Given the description of an element on the screen output the (x, y) to click on. 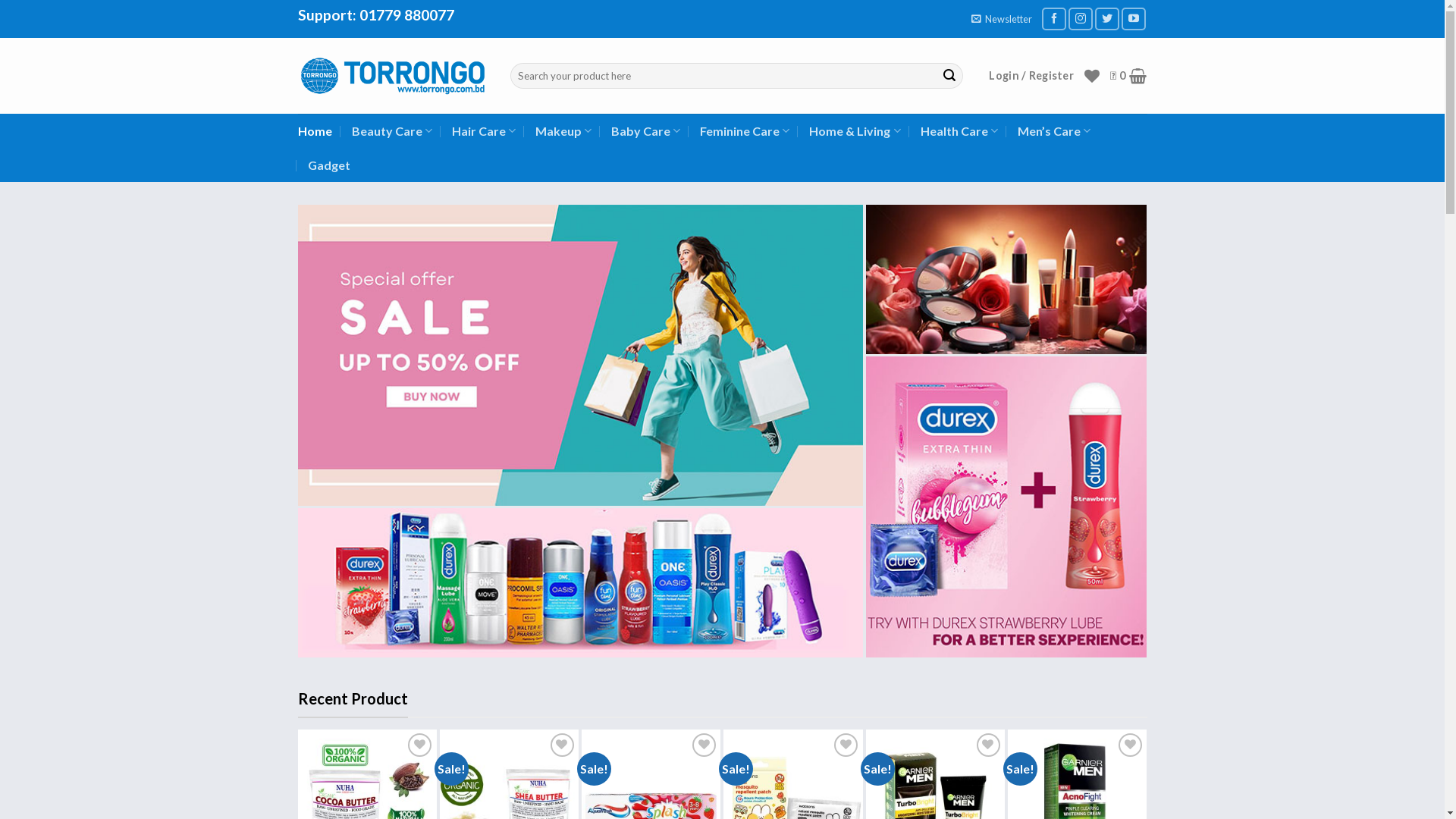
Login / Register Element type: text (1030, 75)
Follow on Instagram Element type: hover (1080, 18)
Baby Care Element type: text (645, 130)
Newsletter Element type: text (1001, 18)
Feminine Care Element type: text (744, 130)
Follow on YouTube Element type: hover (1133, 18)
Makeup Element type: text (563, 130)
Follow on Facebook Element type: hover (1053, 18)
Beauty Care Element type: text (391, 130)
Search Element type: text (949, 75)
Follow on Twitter Element type: hover (1107, 18)
Home Element type: text (314, 130)
Health Care Element type: text (958, 130)
Gadget Element type: text (328, 164)
Hair Care Element type: text (483, 130)
Home & Living Element type: text (854, 130)
TORRONGO - Authentic Beauty & Cosmetics Store In Bangladesh Element type: hover (391, 75)
